Given the description of an element on the screen output the (x, y) to click on. 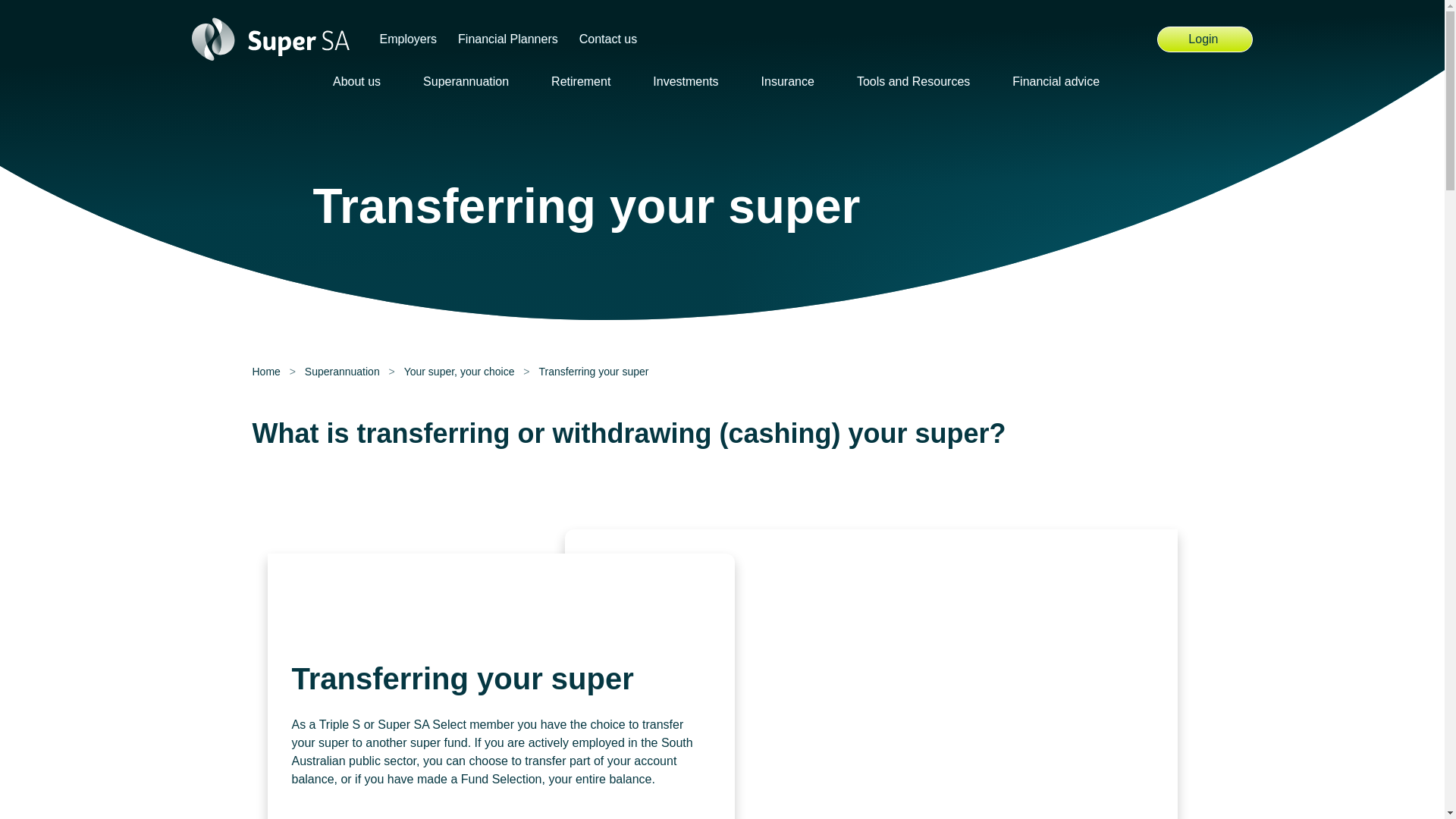
Employers (407, 39)
Super SA Site Logo (269, 39)
About us (362, 80)
Retirement (586, 80)
Superannuation (471, 80)
Contact us (608, 39)
Financial Planners (1204, 39)
